Given the description of an element on the screen output the (x, y) to click on. 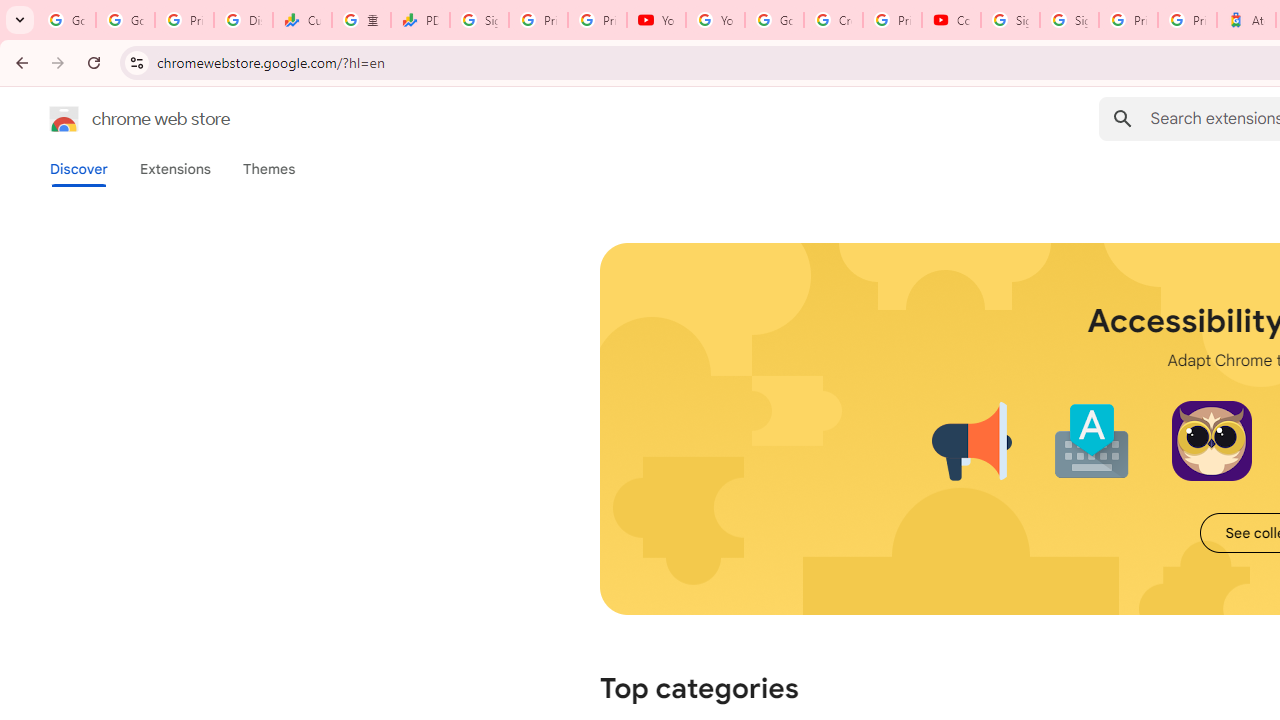
Currencies - Google Finance (301, 20)
Content Creator Programs & Opportunities - YouTube Creators (950, 20)
Sign in - Google Accounts (1010, 20)
Reload (93, 62)
Search tabs (20, 20)
PDD Holdings Inc - ADR (PDD) Price & News - Google Finance (420, 20)
Google Account Help (774, 20)
YouTube (715, 20)
Themes (269, 169)
Back (19, 62)
Privacy Checkup (597, 20)
Sign in - Google Accounts (479, 20)
